Given the description of an element on the screen output the (x, y) to click on. 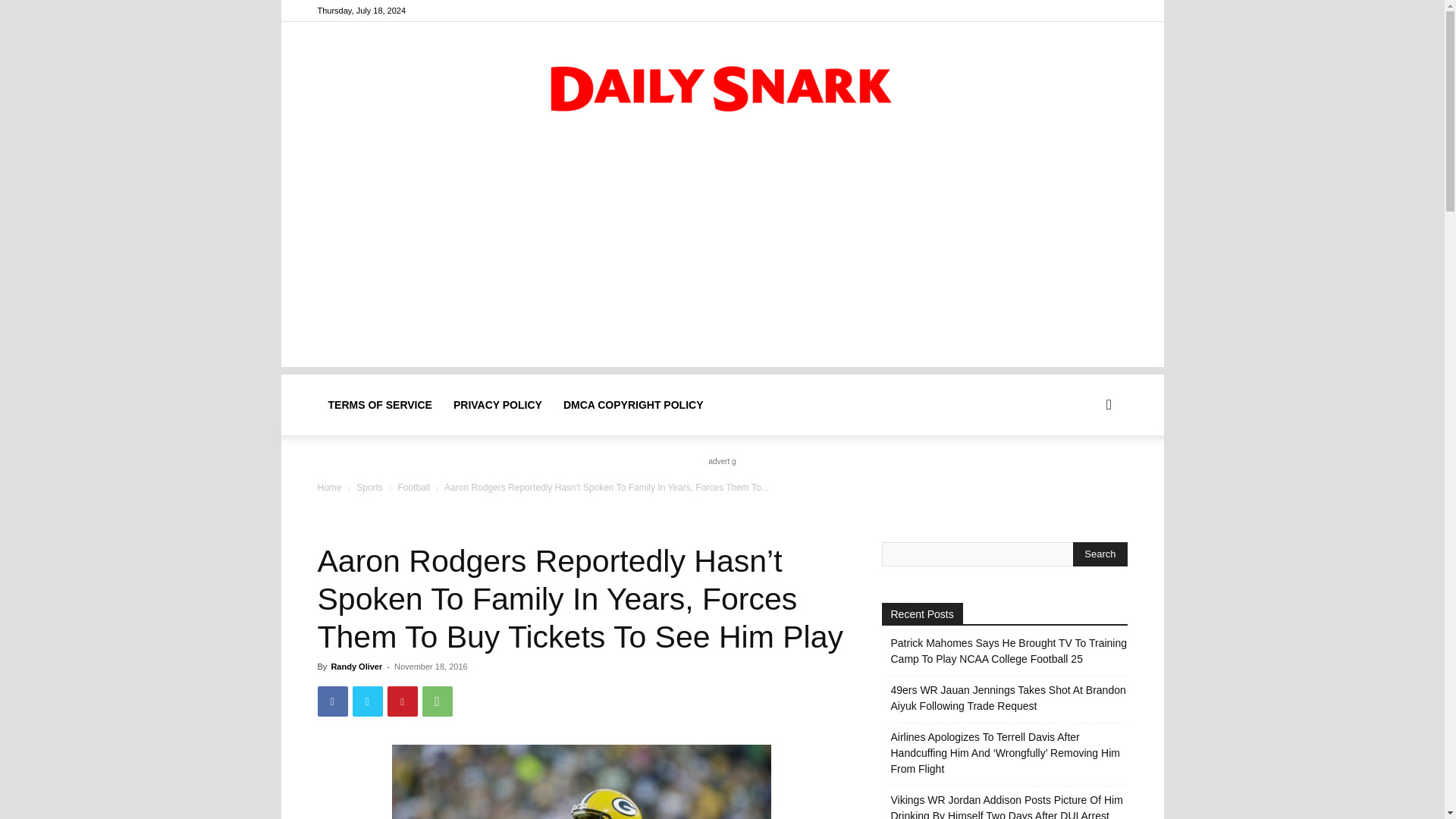
DMCA COPYRIGHT POLICY (633, 404)
Search (1099, 554)
Football (413, 487)
Pinterest (401, 701)
Twitter (366, 701)
Home (328, 487)
Facebook (1090, 10)
Twitter (1114, 10)
Facebook (332, 701)
WhatsApp (436, 701)
PRIVACY POLICY (497, 404)
TERMS OF SERVICE (379, 404)
Sports (369, 487)
View all posts in Football (413, 487)
